Given the description of an element on the screen output the (x, y) to click on. 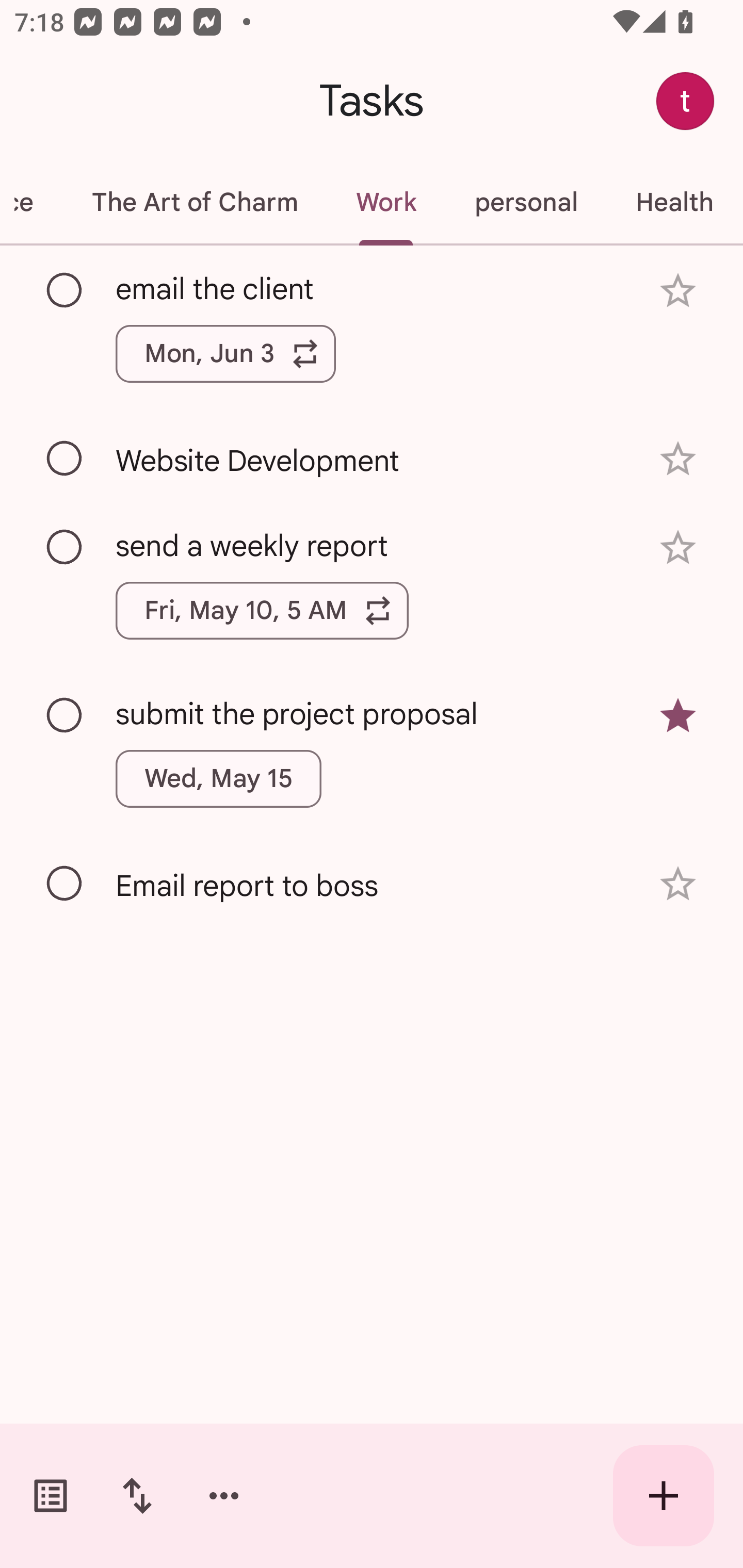
The Art of Charm (194, 202)
personal (525, 202)
Health (674, 202)
Add star (677, 290)
Mark as complete (64, 290)
Mon, Jun 3 (225, 353)
Add star (677, 458)
Mark as complete (64, 459)
Add star (677, 547)
Mark as complete (64, 547)
Fri, May 10, 5 AM (261, 610)
Remove star (677, 715)
Mark as complete (64, 715)
Wed, May 15 (218, 778)
Add star (677, 883)
Mark as complete (64, 884)
Switch task lists (50, 1495)
Create new task (663, 1495)
Change sort order (136, 1495)
More options (223, 1495)
